Given the description of an element on the screen output the (x, y) to click on. 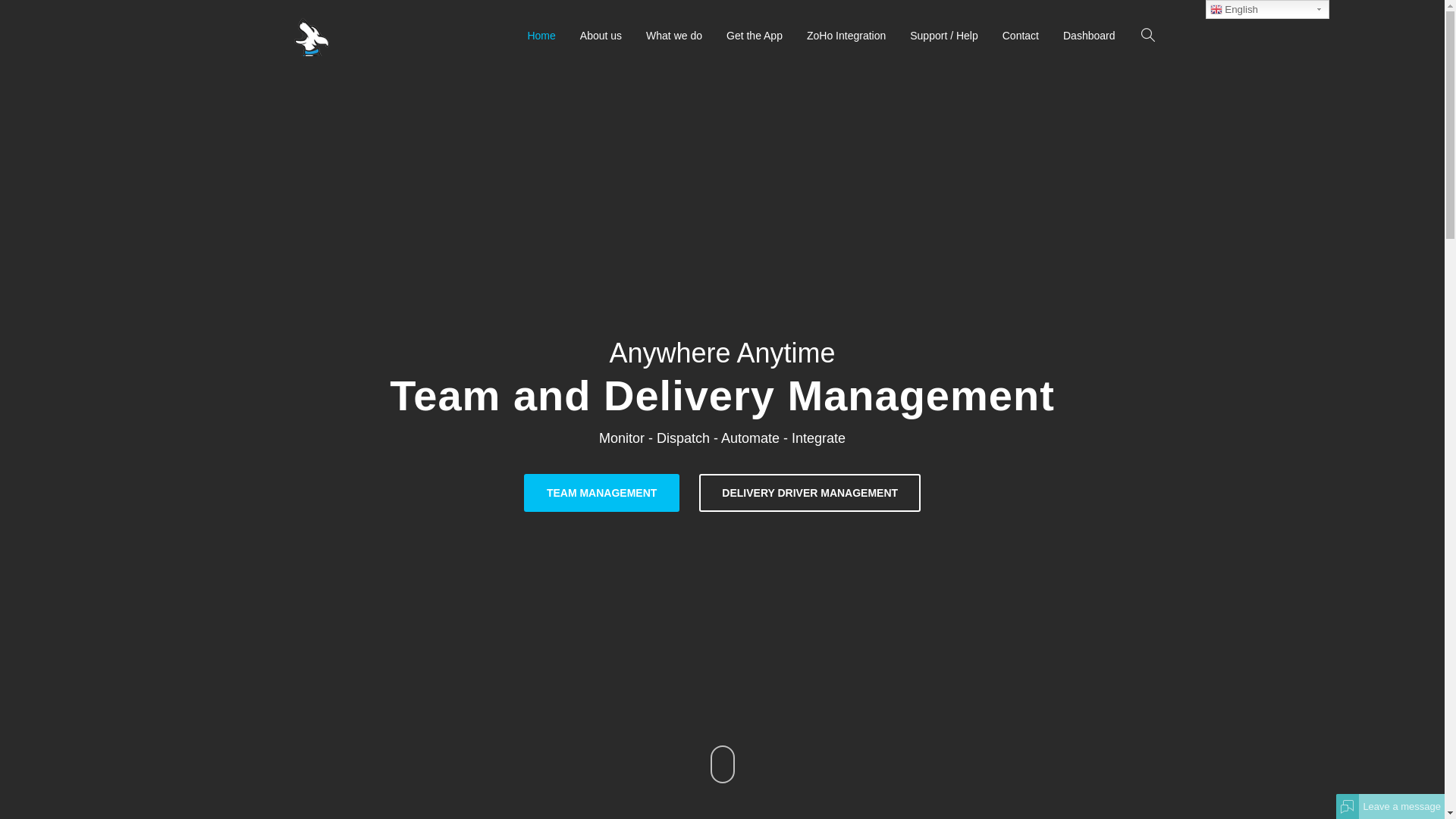
Home Element type: text (541, 35)
ZoHo Integration Element type: text (845, 35)
Offline Element type: hover (1347, 805)
English Element type: text (1267, 9)
What we do Element type: text (674, 35)
Contact Element type: text (1020, 35)
Dashboard Element type: text (1089, 35)
Get the App Element type: text (754, 35)
About us Element type: text (600, 35)
TEAM MANAGEMENT Element type: text (601, 492)
DELIVERY DRIVER MANAGEMENT Element type: text (809, 492)
Support / Help Element type: text (944, 35)
